Given the description of an element on the screen output the (x, y) to click on. 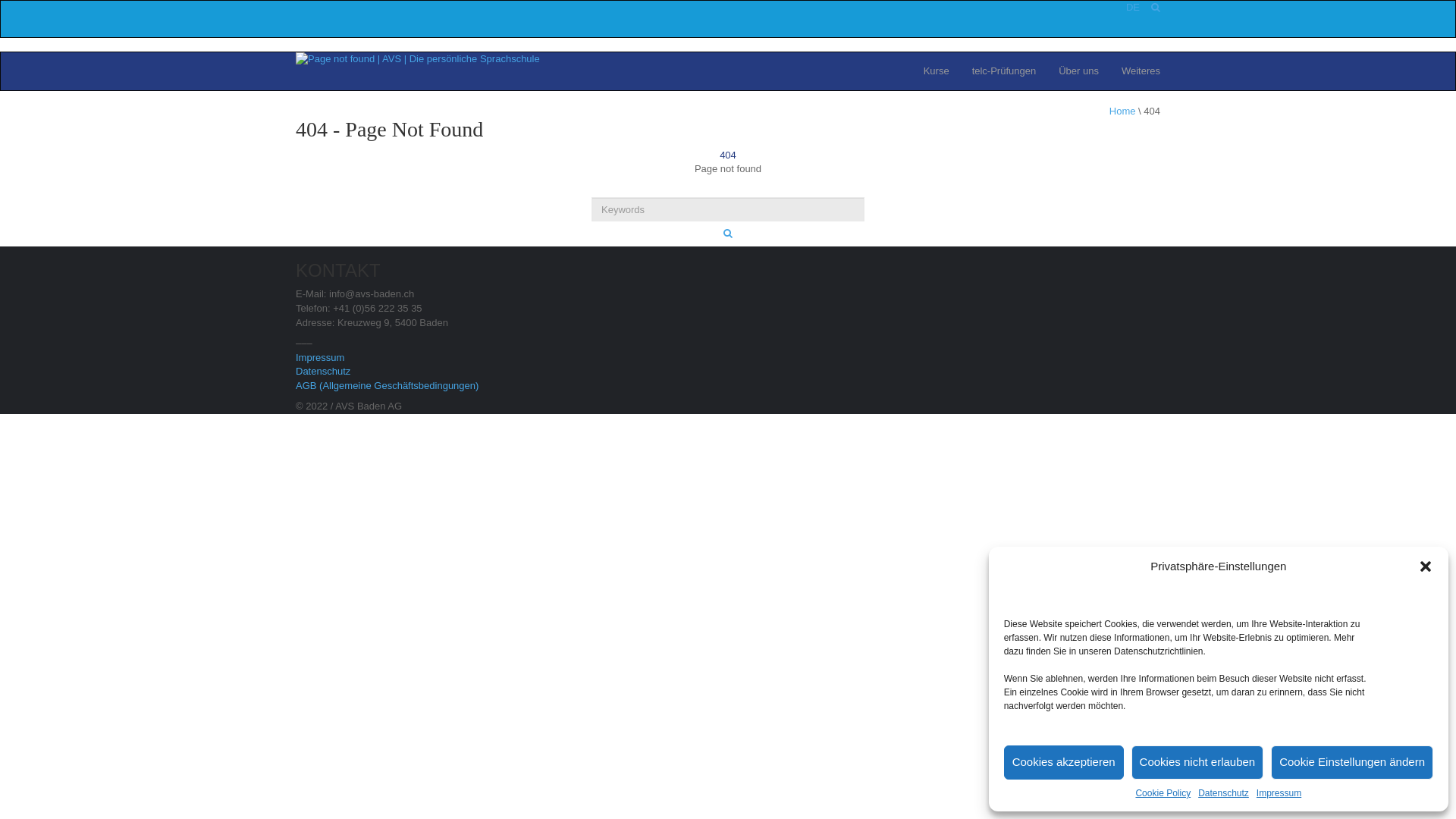
Datenschutz Element type: text (322, 370)
D Element type: text (1129, 6)
E Element type: text (1135, 6)
Cookies akzeptieren Element type: text (1063, 762)
Weiteres Element type: text (1140, 71)
Kurse Element type: text (936, 71)
Cookie Policy Element type: text (1162, 793)
Cookies nicht erlauben Element type: text (1197, 762)
Datenschutz Element type: text (1223, 793)
Home Element type: text (1122, 110)
Impressum Element type: text (319, 357)
Search Element type: hover (727, 233)
Impressum Element type: text (1278, 793)
